Given the description of an element on the screen output the (x, y) to click on. 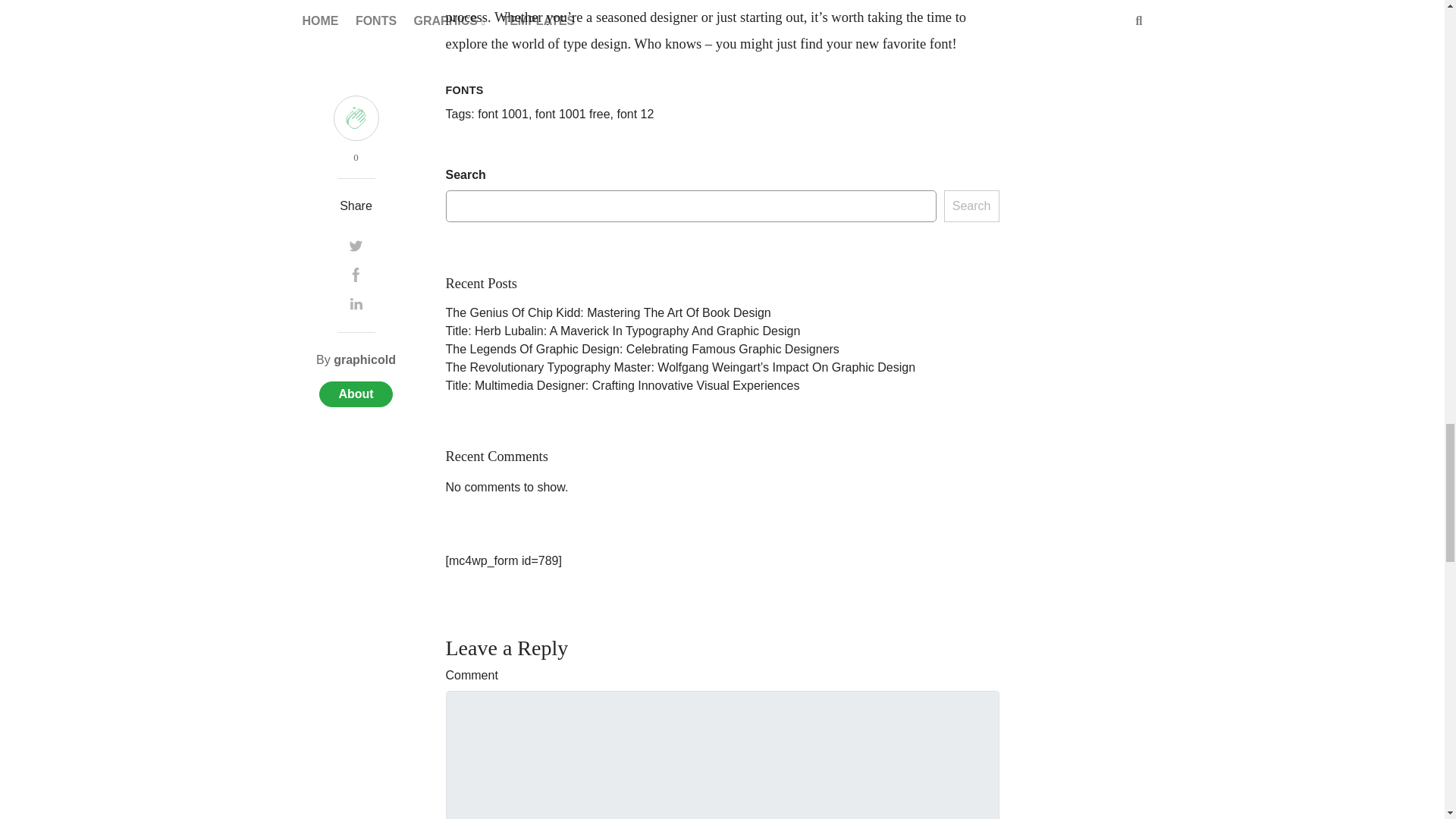
FONTS (464, 90)
Search (970, 205)
The Genius Of Chip Kidd: Mastering The Art Of Book Design (608, 312)
font 1001 (502, 113)
font 1001 free (572, 113)
font 12 (634, 113)
